Given the description of an element on the screen output the (x, y) to click on. 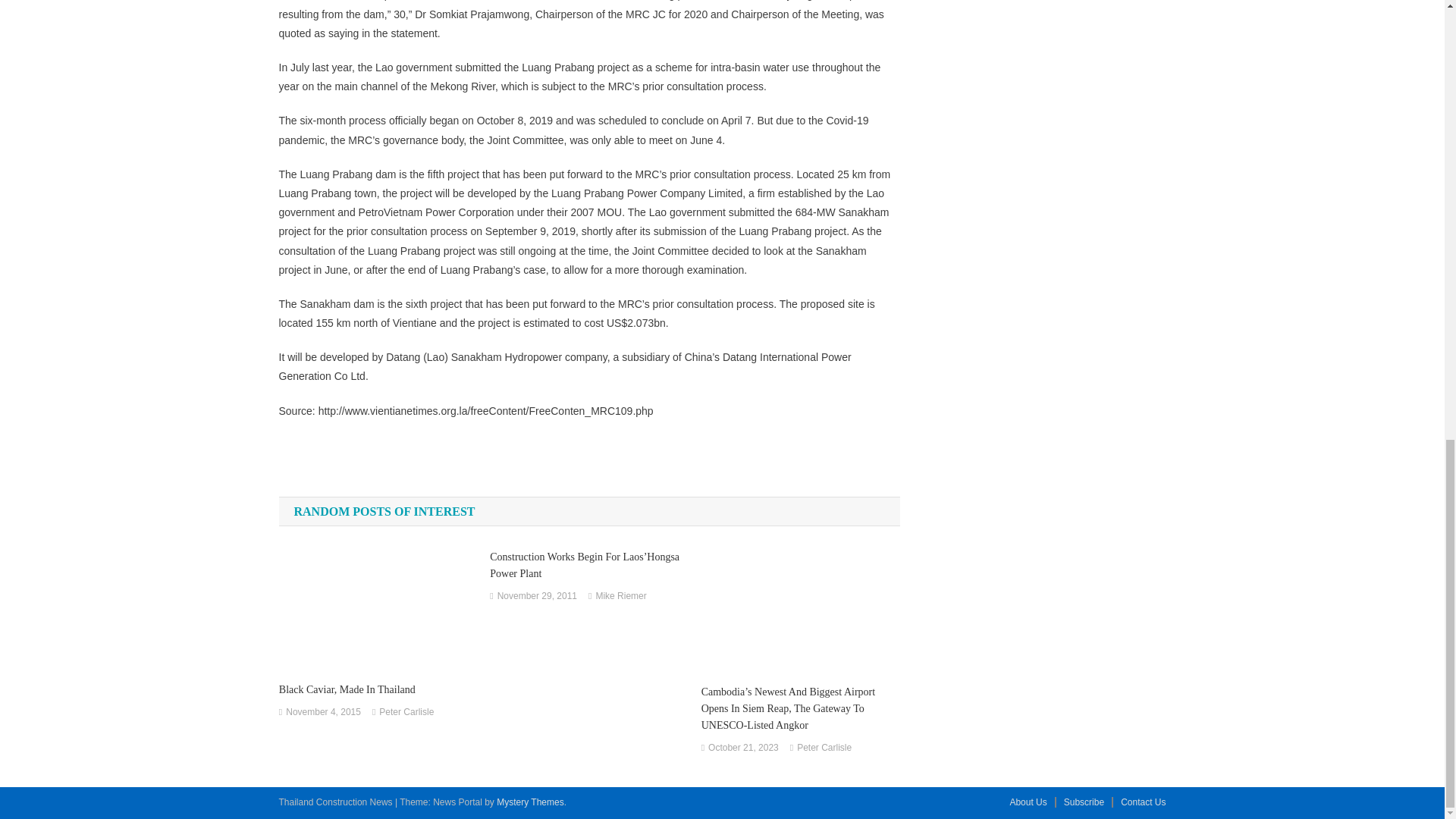
November 4, 2015 (323, 712)
Peter Carlisle (405, 712)
Black Caviar, Made In Thailand (378, 689)
November 29, 2011 (536, 596)
